Given the description of an element on the screen output the (x, y) to click on. 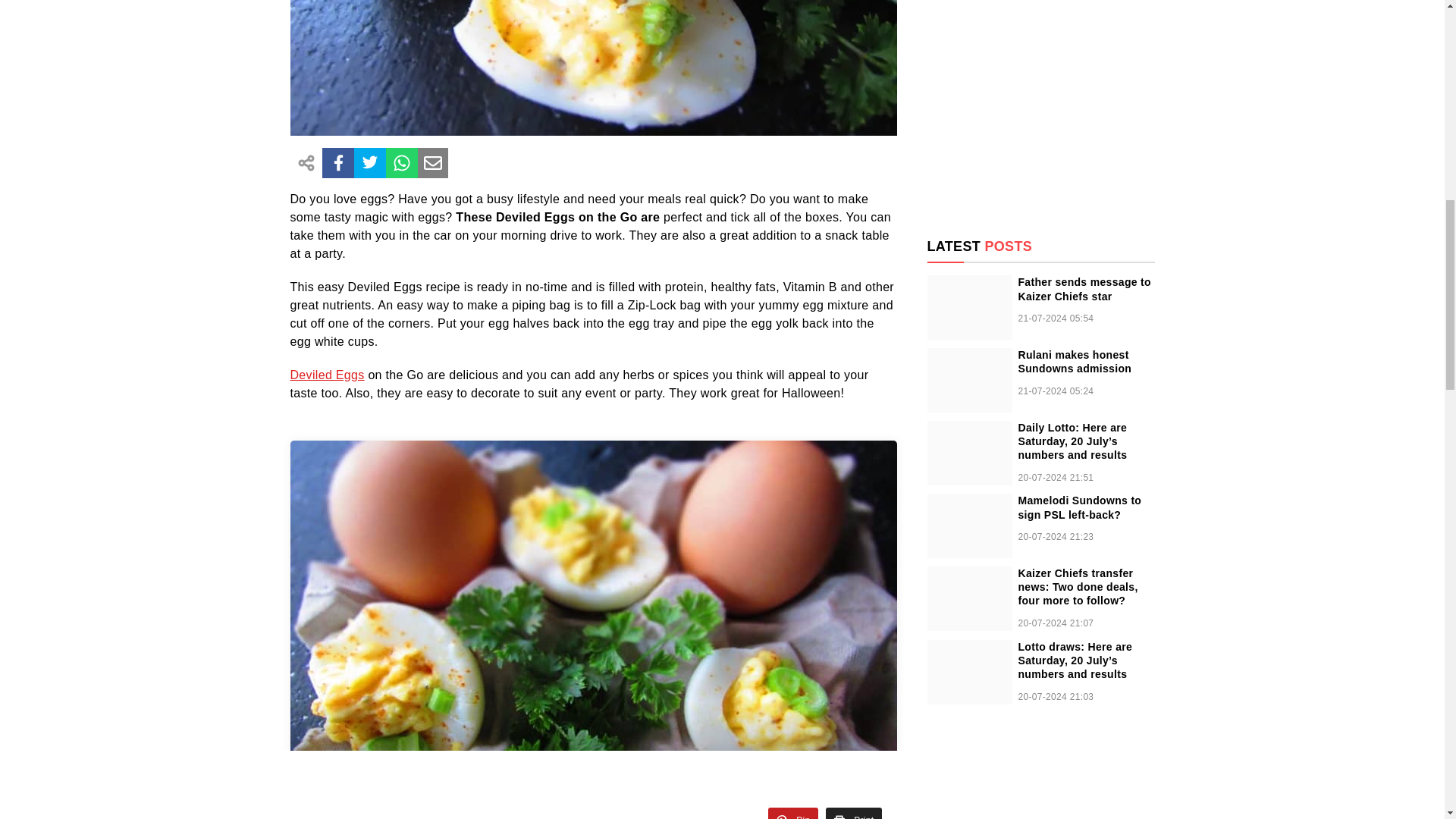
Print directions (853, 813)
